Given the description of an element on the screen output the (x, y) to click on. 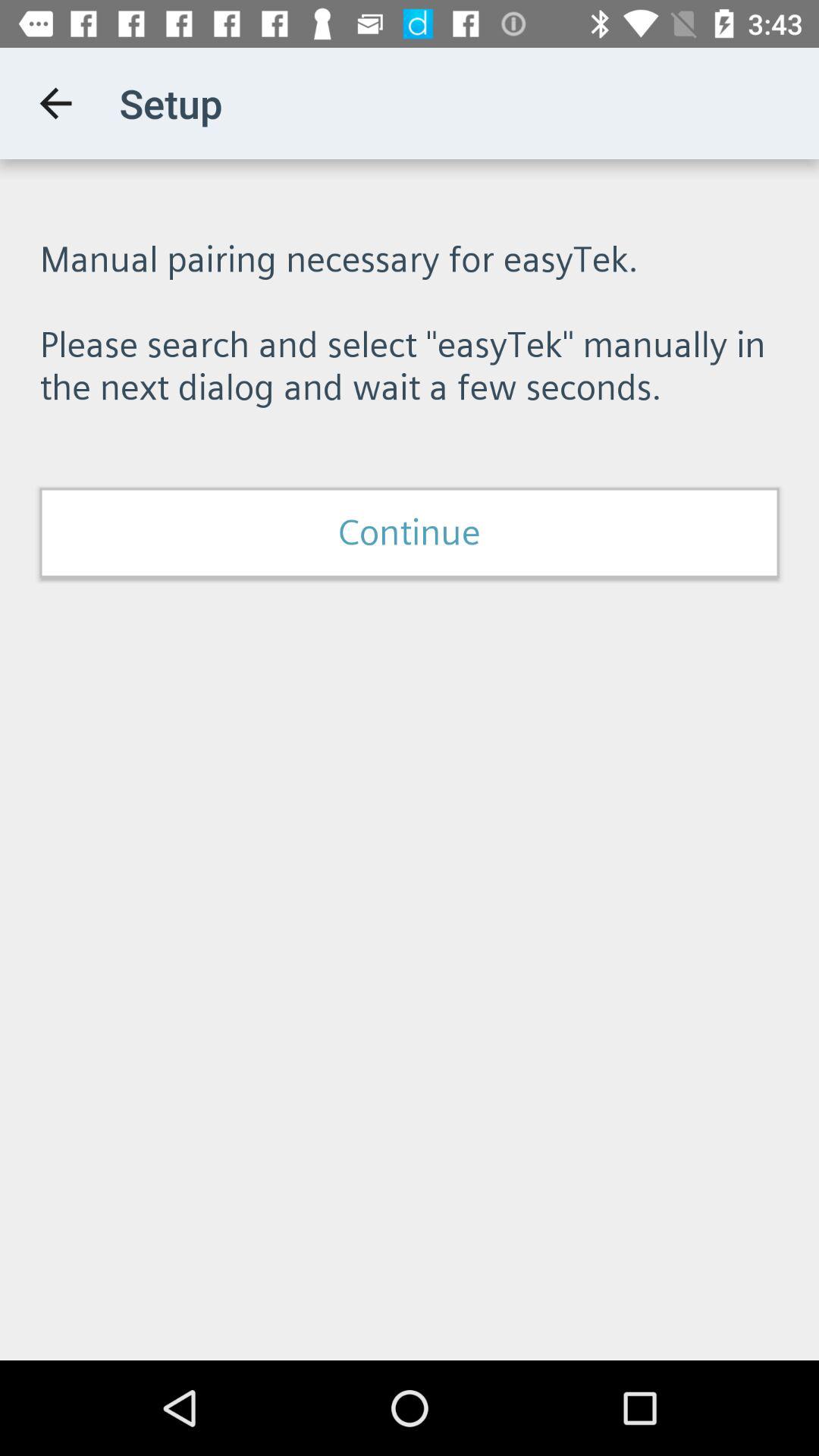
click app next to the setup (55, 103)
